Given the description of an element on the screen output the (x, y) to click on. 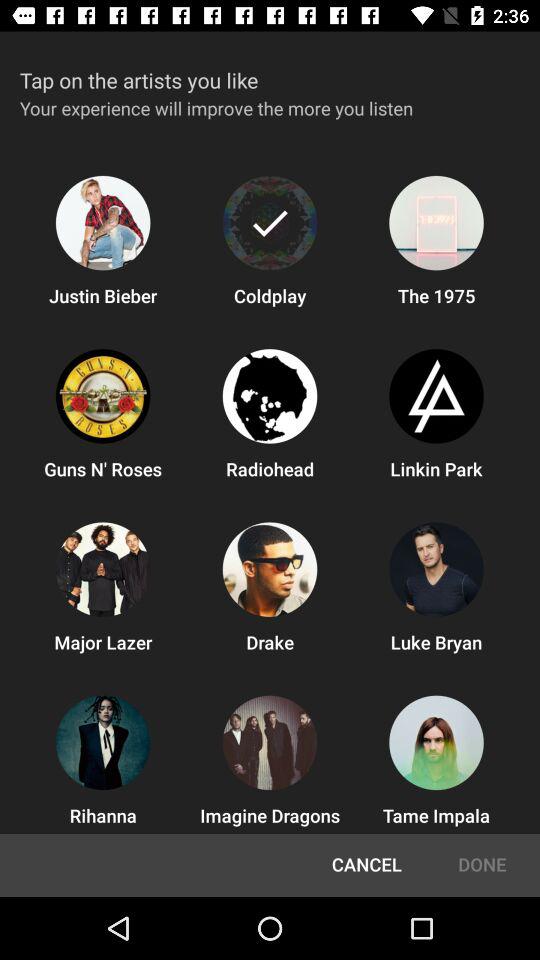
press the cancel item (366, 865)
